Given the description of an element on the screen output the (x, y) to click on. 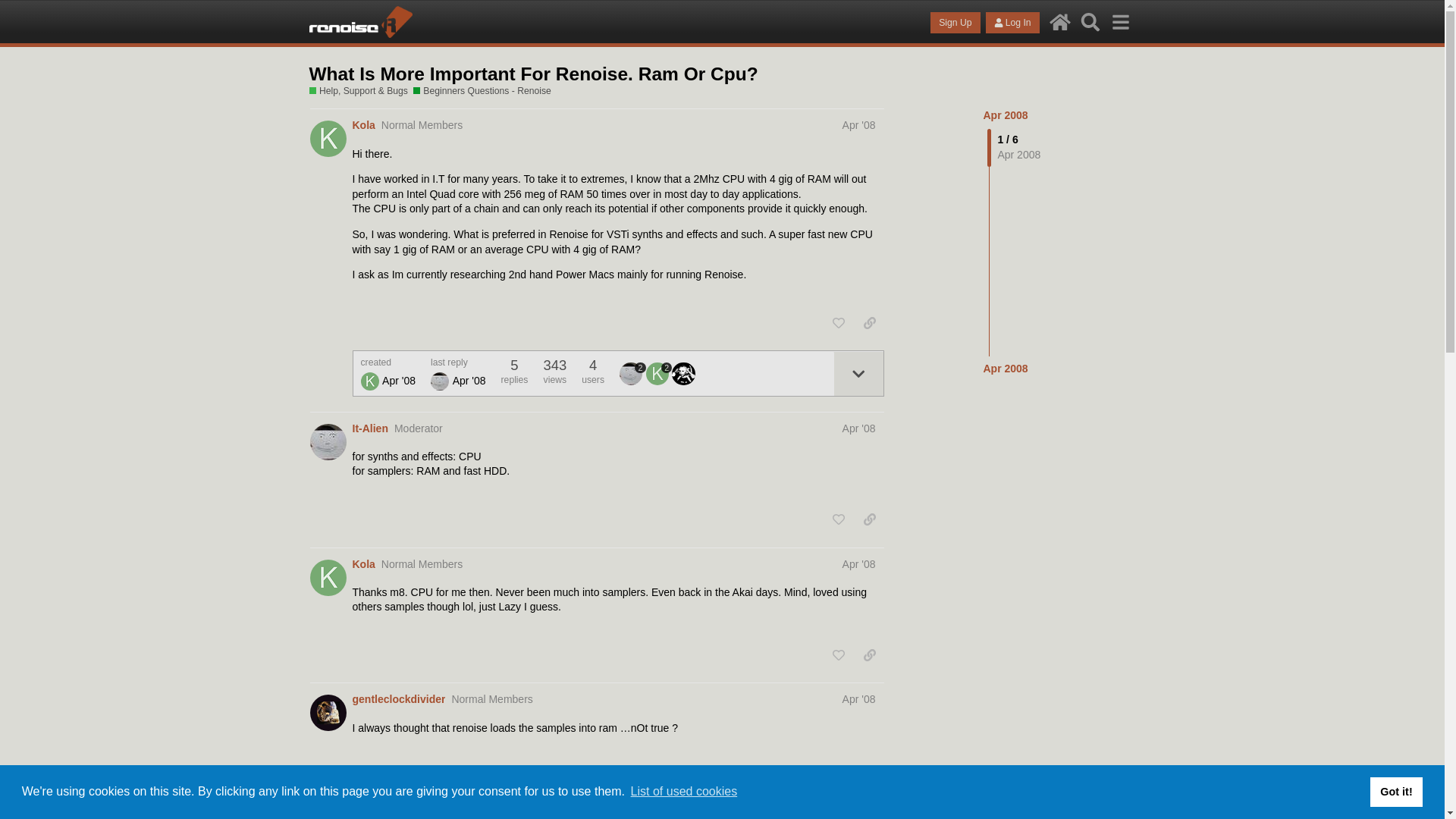
Apr 2008 (1004, 114)
It-Alien (631, 373)
Apr '08 (859, 563)
Log In (1012, 22)
Kola (363, 563)
Sign Up (954, 22)
expand topic details (857, 373)
Beginners Questions - Renoise (482, 91)
What Is More Important For Renoise. Ram Or Cpu? (533, 73)
Kola (369, 381)
Kola (363, 125)
2 (633, 373)
Apr 14, 2008 5:17 pm (397, 379)
like this post (838, 322)
